Given the description of an element on the screen output the (x, y) to click on. 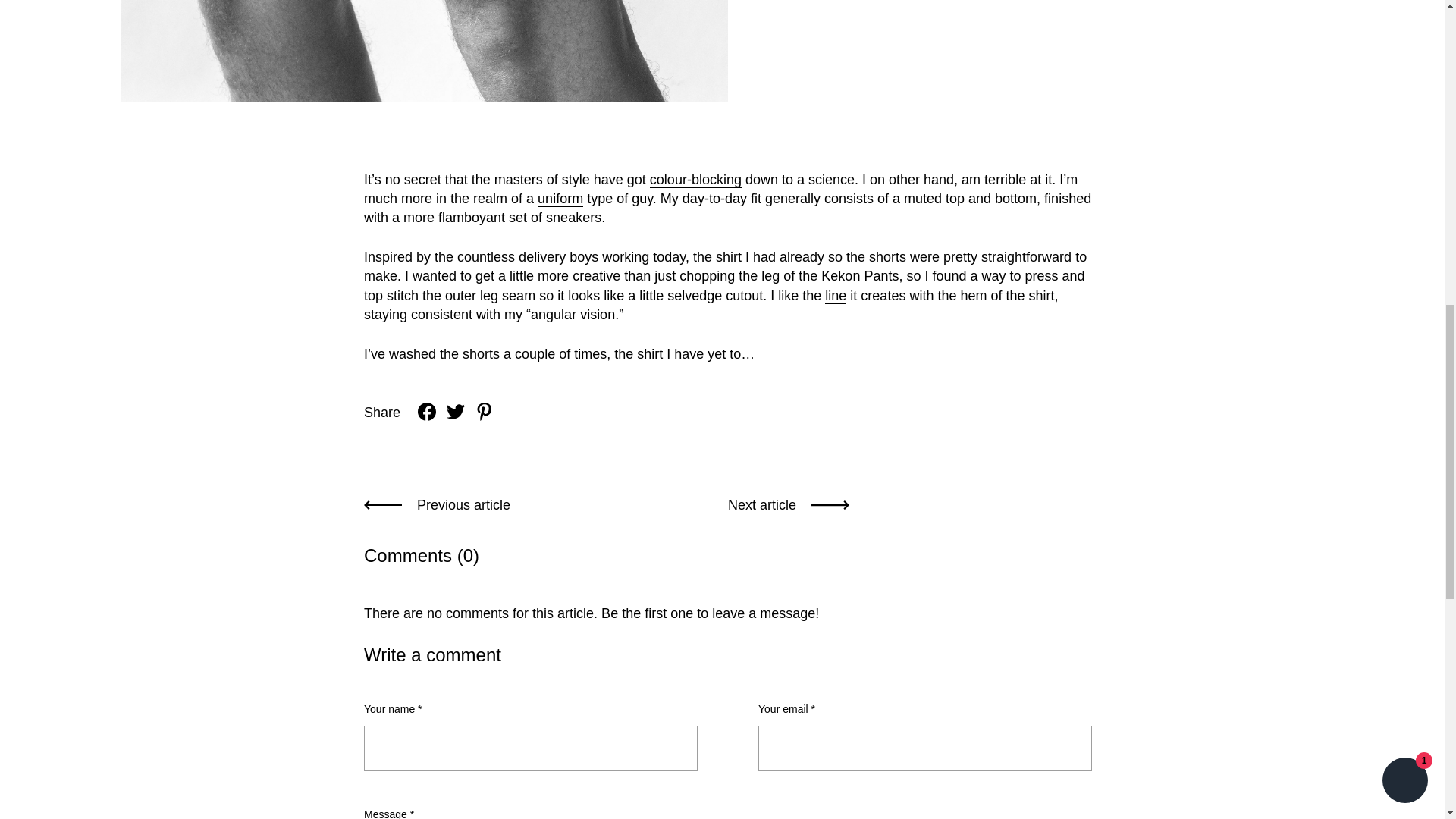
line (835, 295)
Next article (788, 504)
Previous article (437, 504)
colour-blocking (695, 179)
uniform (560, 198)
Previous article (437, 504)
Next article (788, 504)
